Given the description of an element on the screen output the (x, y) to click on. 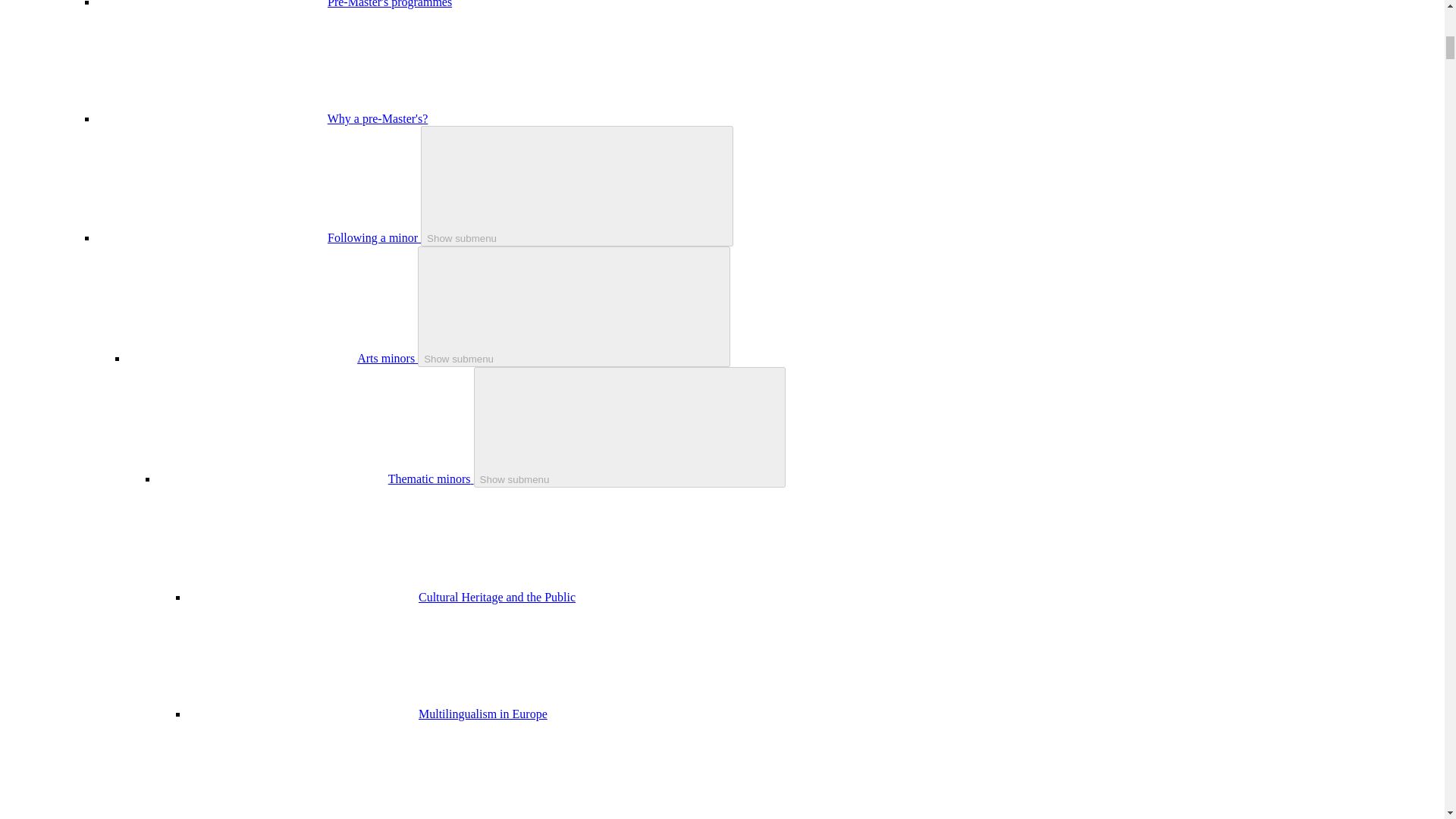
Pre-Master's programmes (389, 4)
Why a pre-Master's? (377, 118)
